Given the description of an element on the screen output the (x, y) to click on. 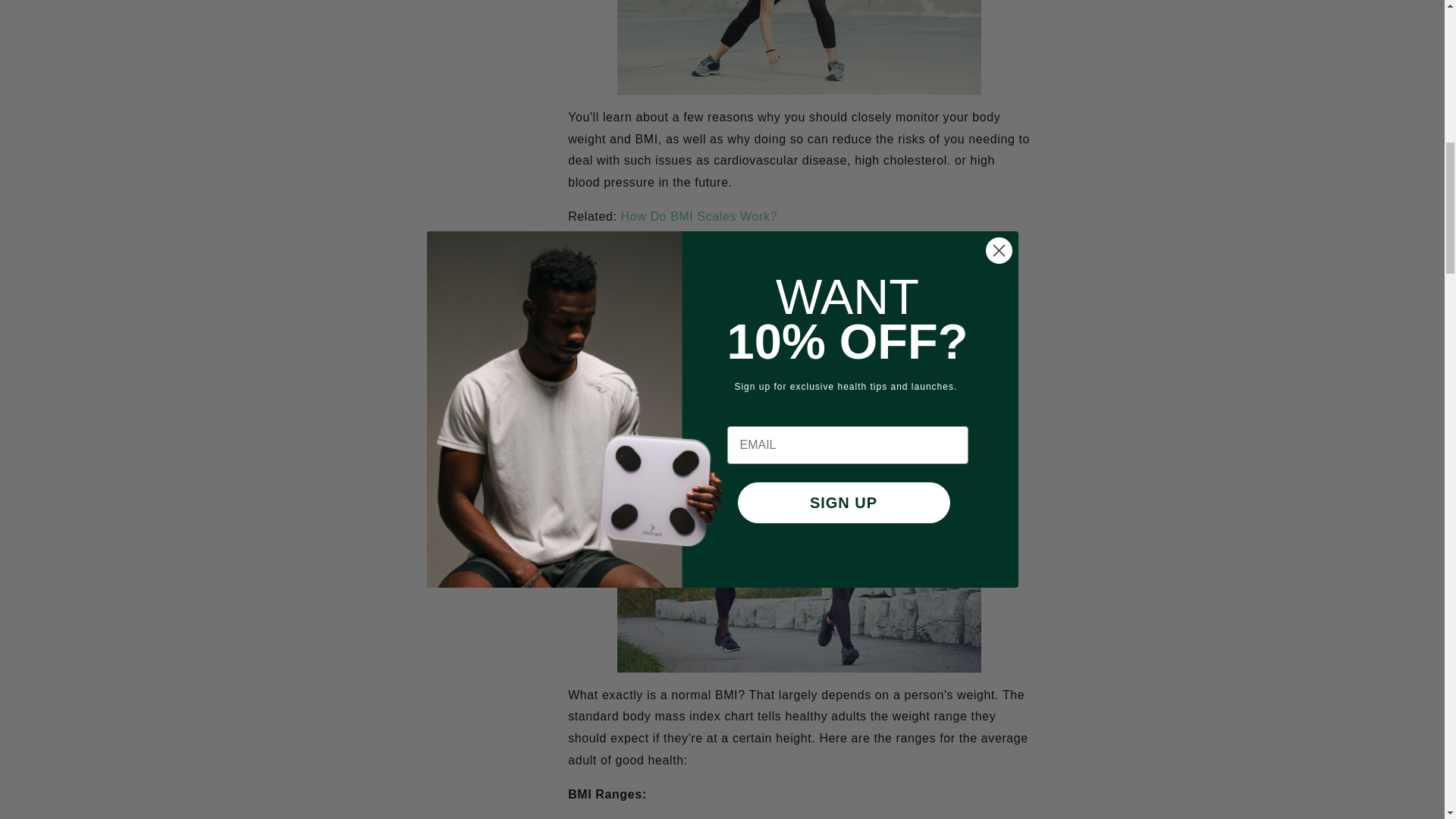
How Do BMI Scales Work? (699, 215)
